Given the description of an element on the screen output the (x, y) to click on. 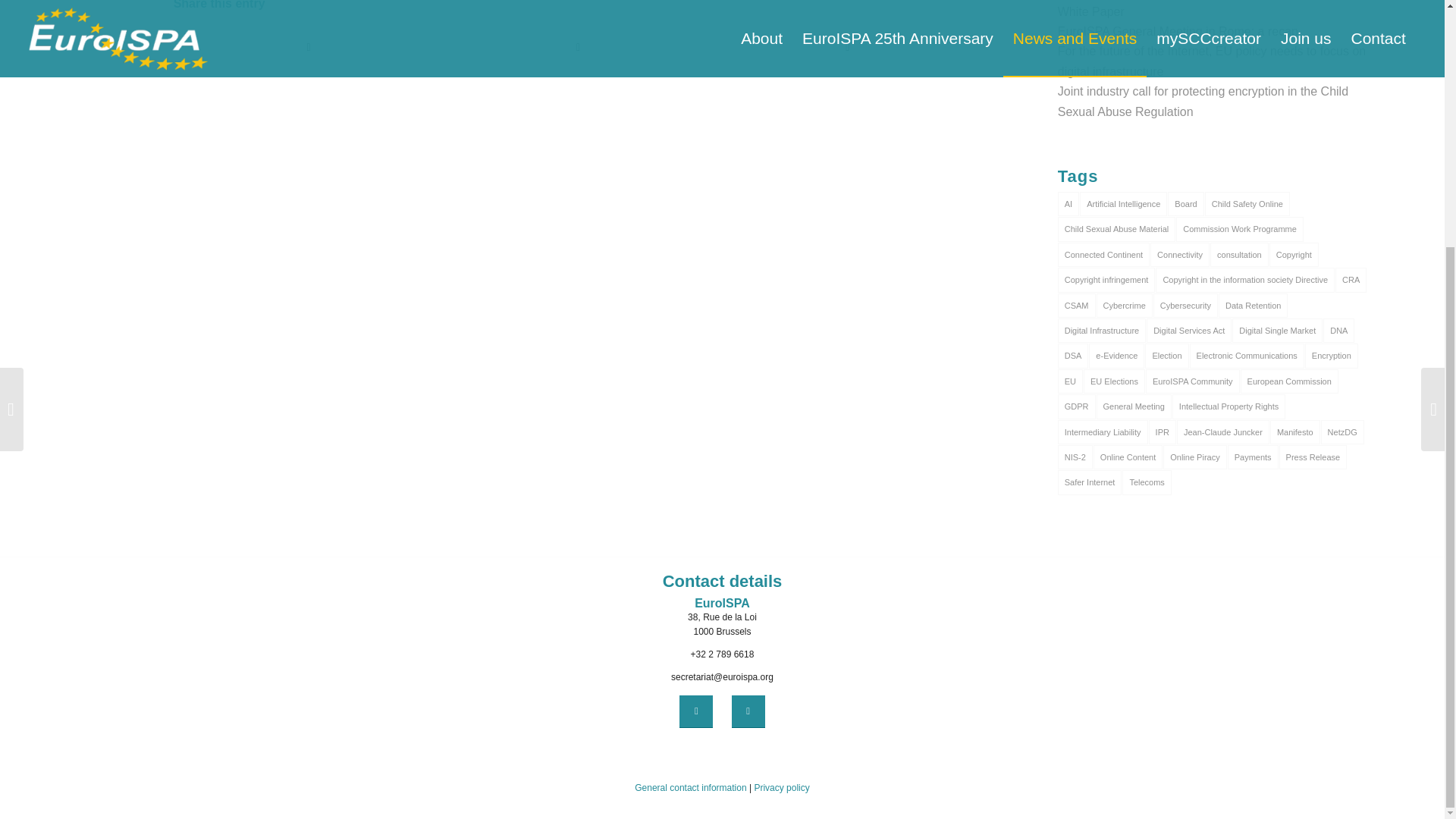
Board (1185, 203)
Artificial Intelligence (1123, 203)
CSAM (1077, 305)
Child Safety Online (1247, 203)
consultation (1238, 254)
Commission Work Programme (1239, 228)
Connected Continent (1104, 254)
Copyright infringement (1107, 279)
